Given the description of an element on the screen output the (x, y) to click on. 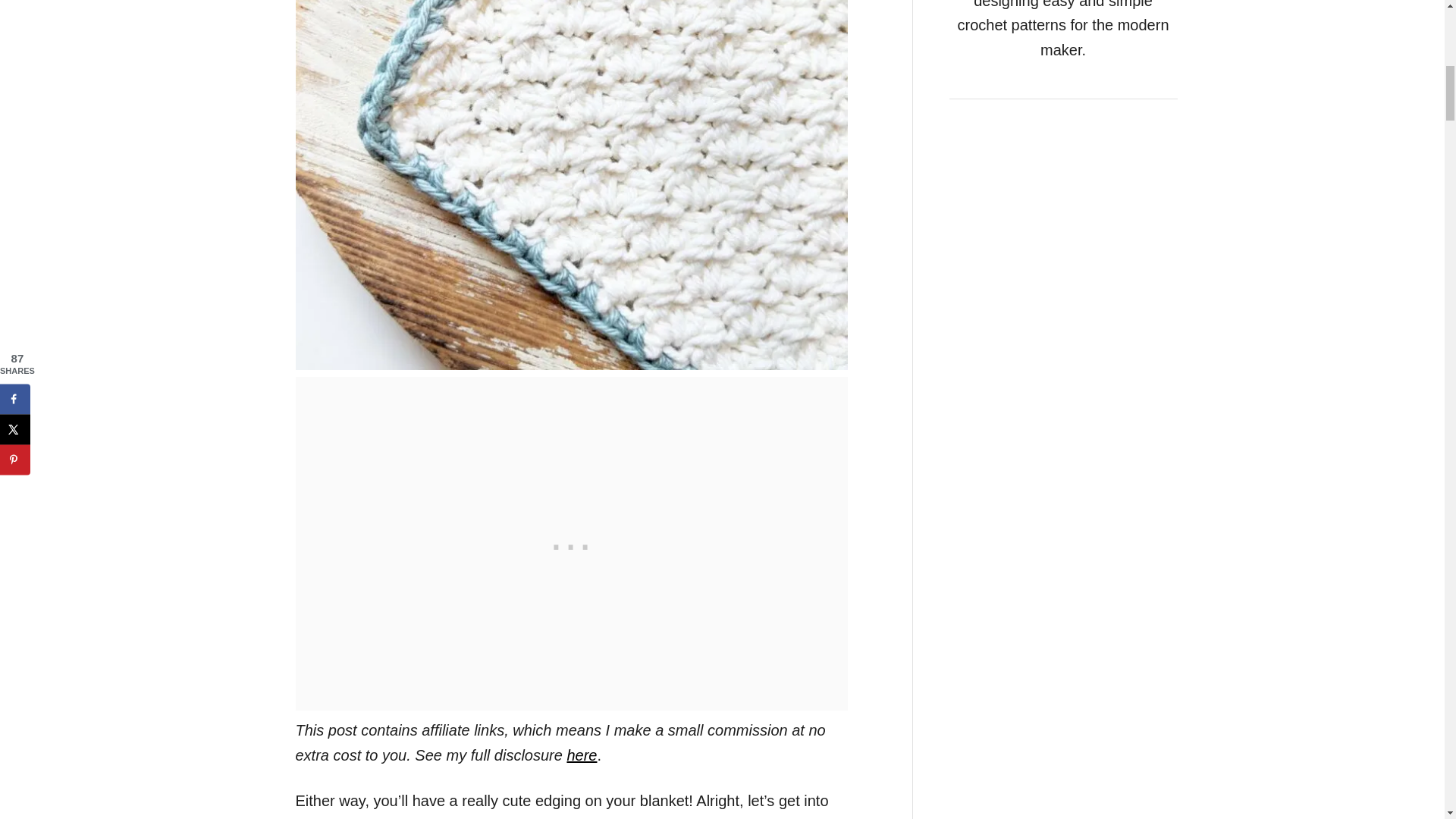
here (581, 754)
